Given the description of an element on the screen output the (x, y) to click on. 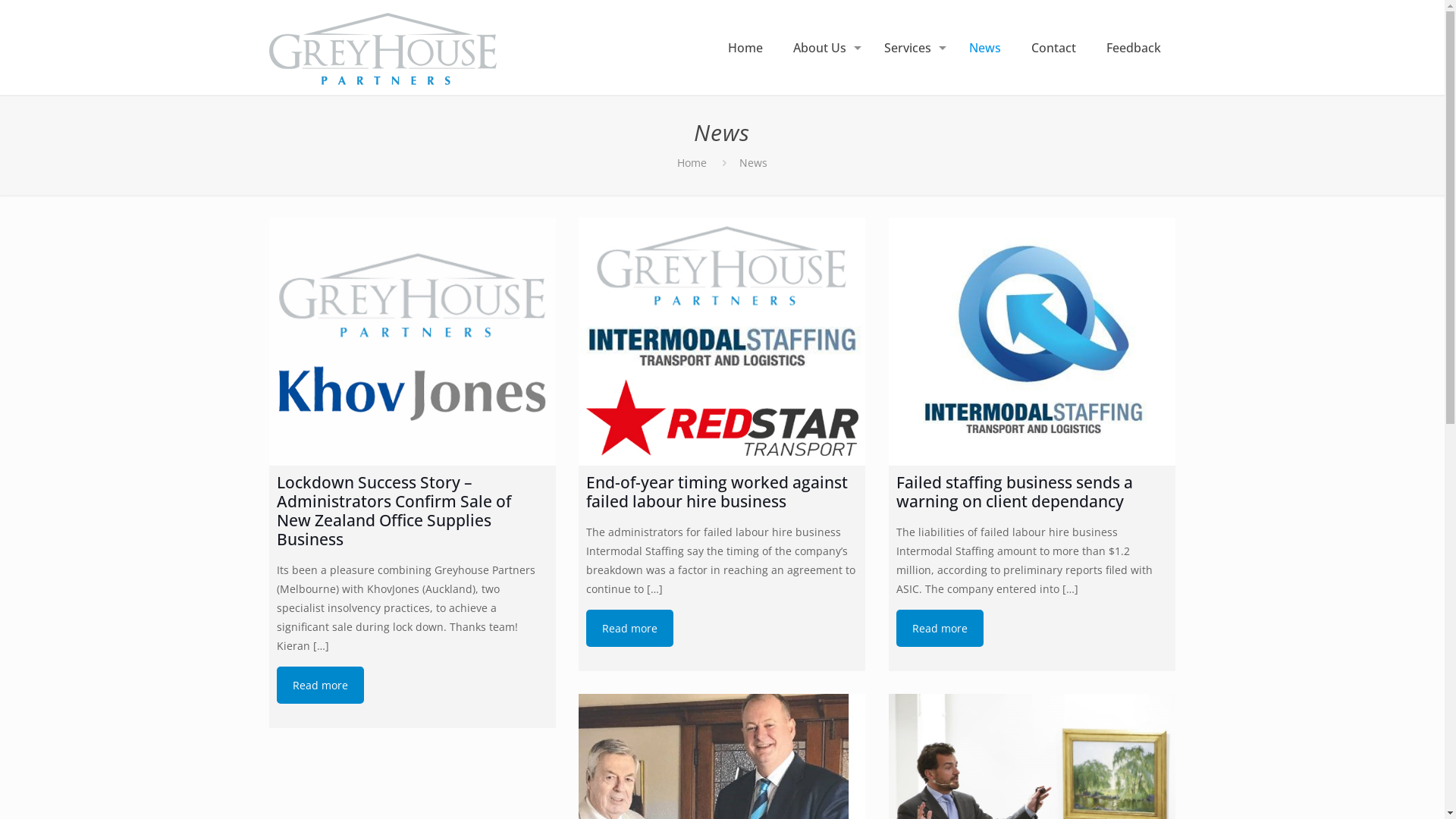
Services Element type: text (916, 47)
info@greyhouse.com.au Element type: text (1012, 489)
Grey House Partners Element type: hover (382, 47)
About Us Element type: text (828, 47)
Contact Element type: text (1058, 47)
News Element type: text (990, 47)
Home Element type: text (750, 47)
Home Element type: text (697, 162)
Feedback Element type: text (1138, 47)
Ben Verney +61 418 554 744 Element type: text (1022, 455)
SUBMIT Element type: text (309, 545)
